Given the description of an element on the screen output the (x, y) to click on. 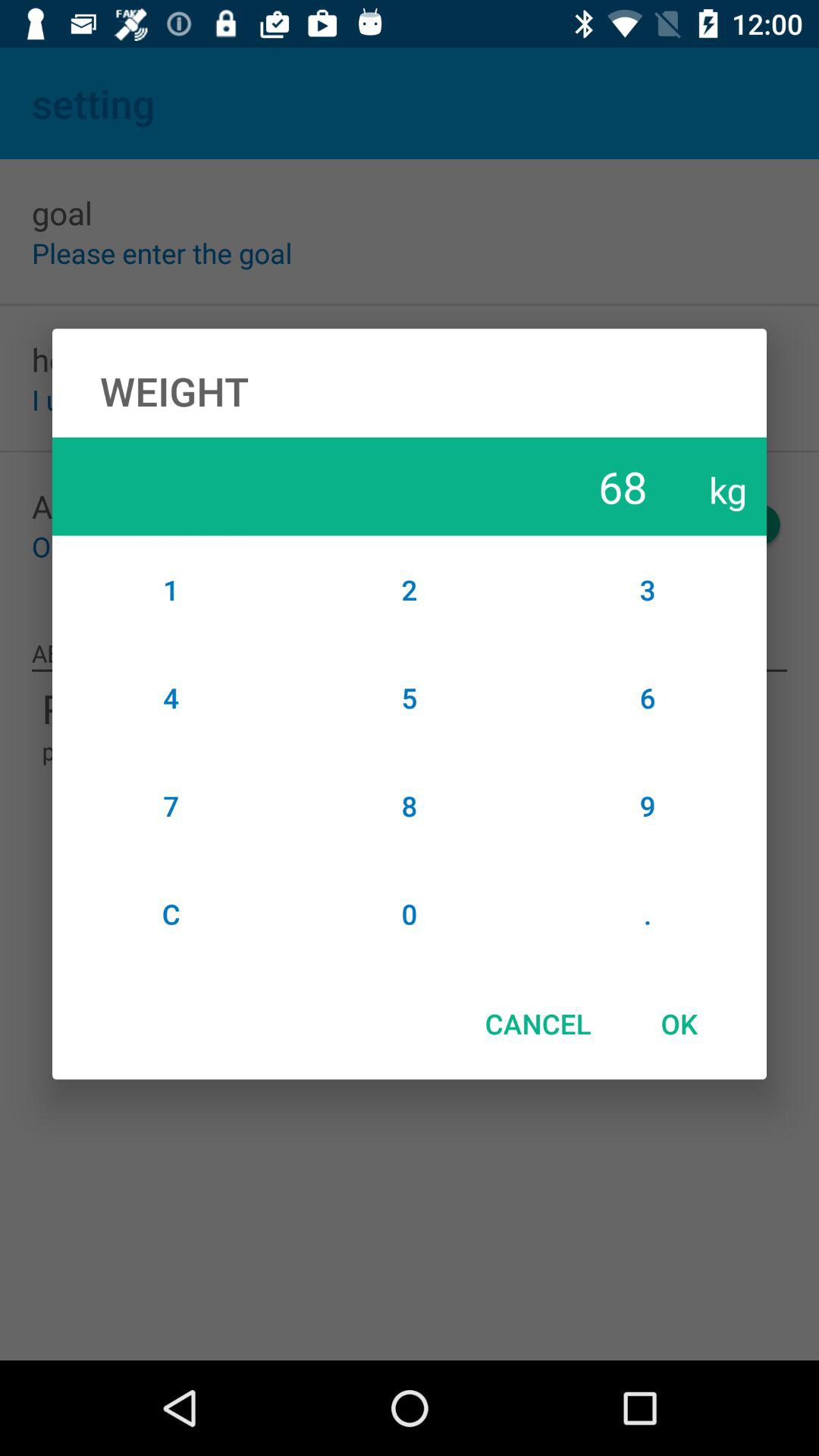
choose item to the right of the 4 (409, 805)
